Given the description of an element on the screen output the (x, y) to click on. 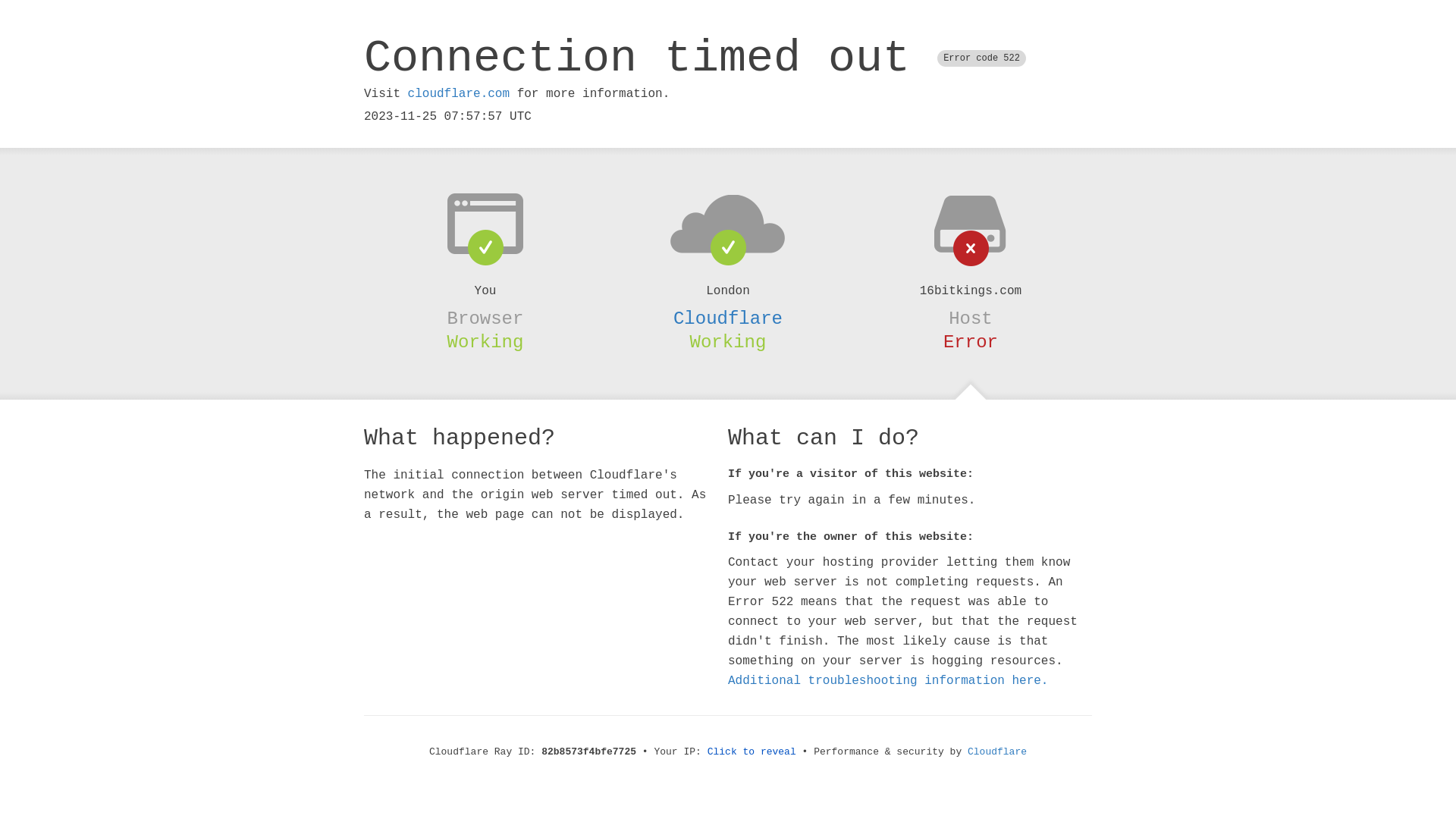
Cloudflare Element type: text (727, 318)
Additional troubleshooting information here. Element type: text (888, 680)
cloudflare.com Element type: text (458, 93)
Click to reveal Element type: text (751, 751)
Cloudflare Element type: text (996, 751)
